Given the description of an element on the screen output the (x, y) to click on. 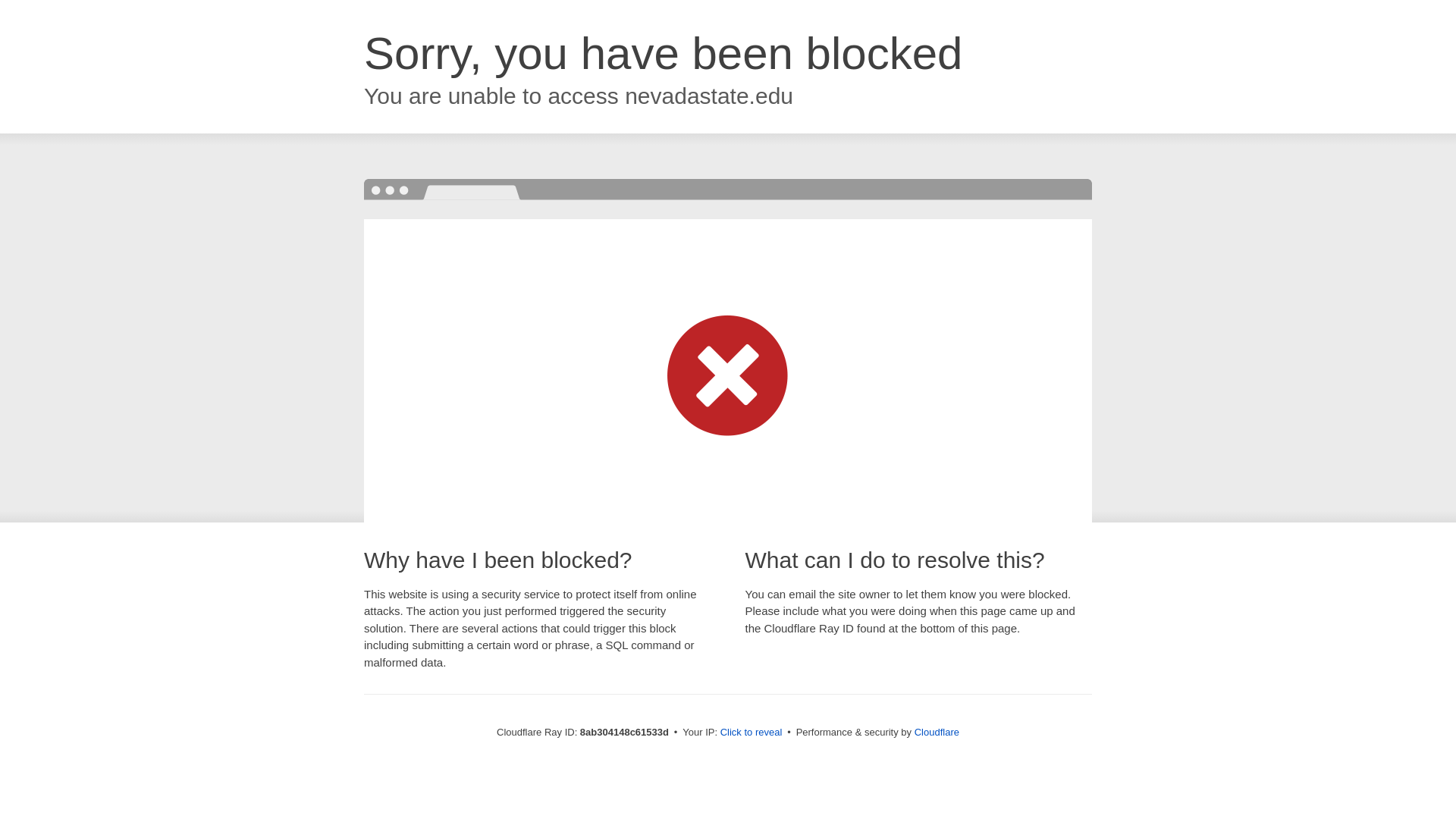
Cloudflare (936, 731)
Click to reveal (751, 732)
